Given the description of an element on the screen output the (x, y) to click on. 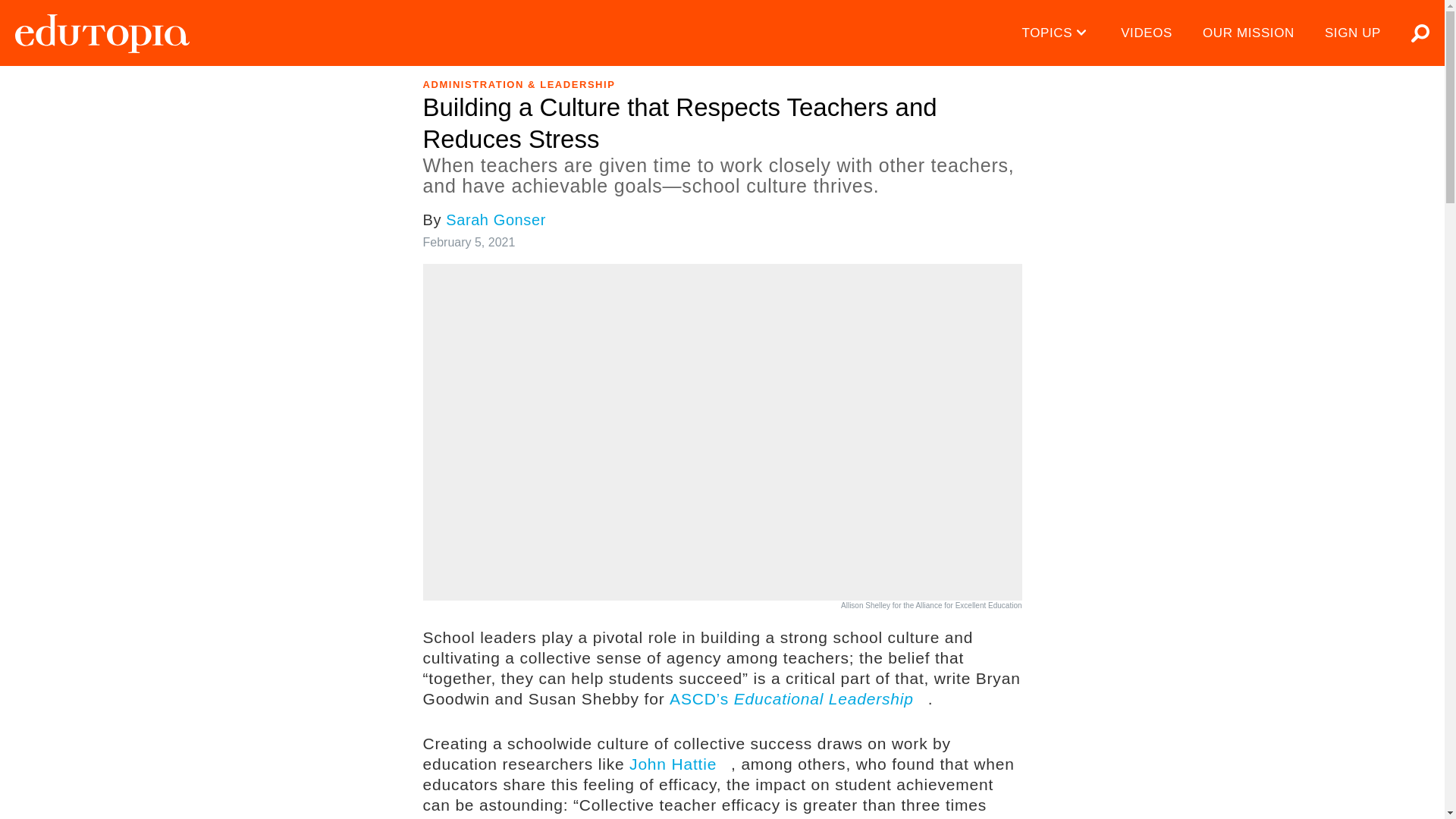
Edutopia (101, 33)
John Hattie (679, 764)
Edutopia (101, 33)
VIDEOS (1146, 33)
TOPICS (1056, 33)
SIGN UP (1352, 33)
Sarah Gonser (495, 219)
OUR MISSION (1248, 33)
